Given the description of an element on the screen output the (x, y) to click on. 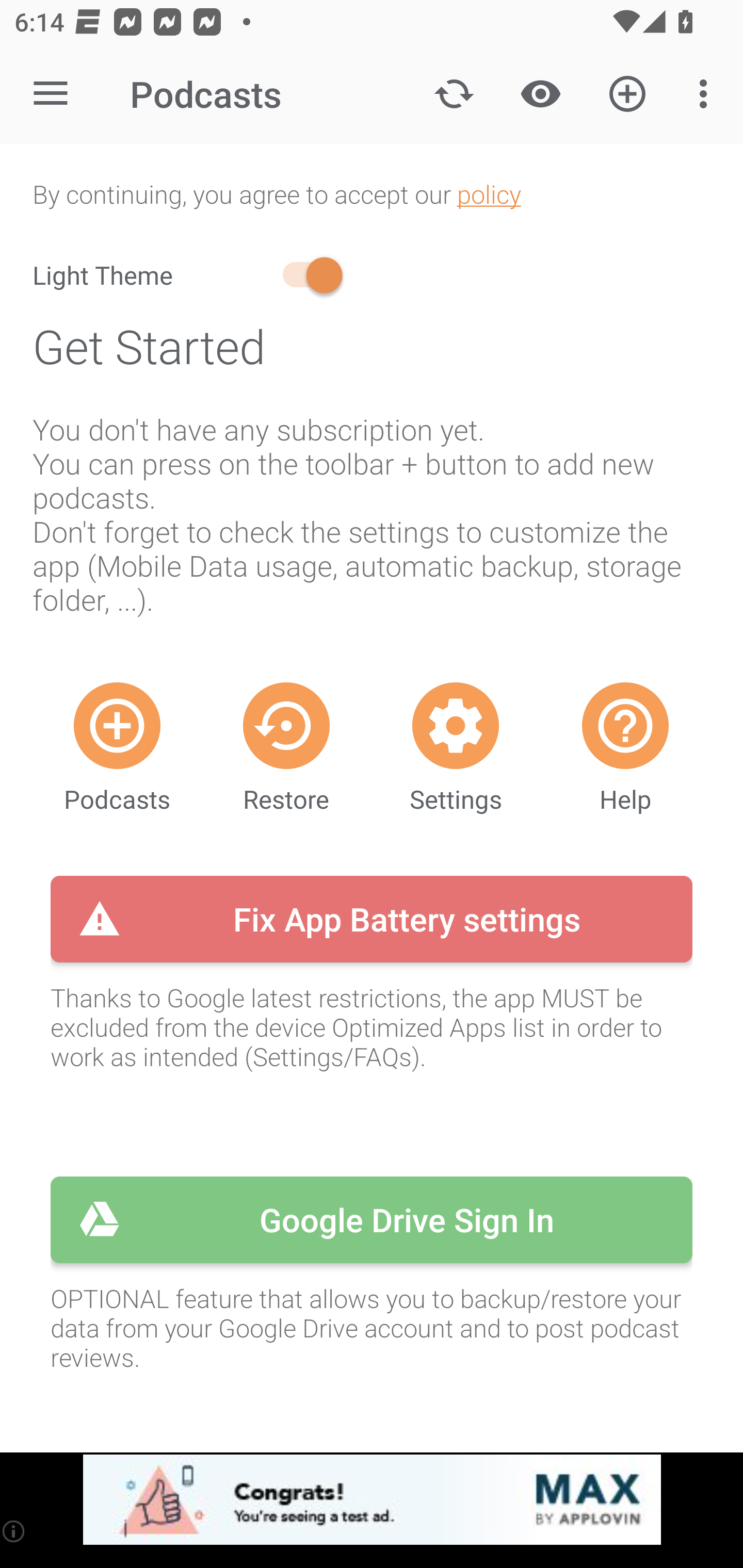
Open navigation sidebar (50, 93)
Update (453, 93)
Show / Hide played content (540, 93)
Add new Podcast (626, 93)
More options (706, 93)
Light Theme (190, 274)
RSS (116, 725)
RSS (285, 725)
RSS (455, 725)
RSS (624, 725)
Fix App Battery settings (371, 919)
Google Drive Sign In (371, 1219)
app-monetization (371, 1500)
(i) (14, 1531)
